Given the description of an element on the screen output the (x, y) to click on. 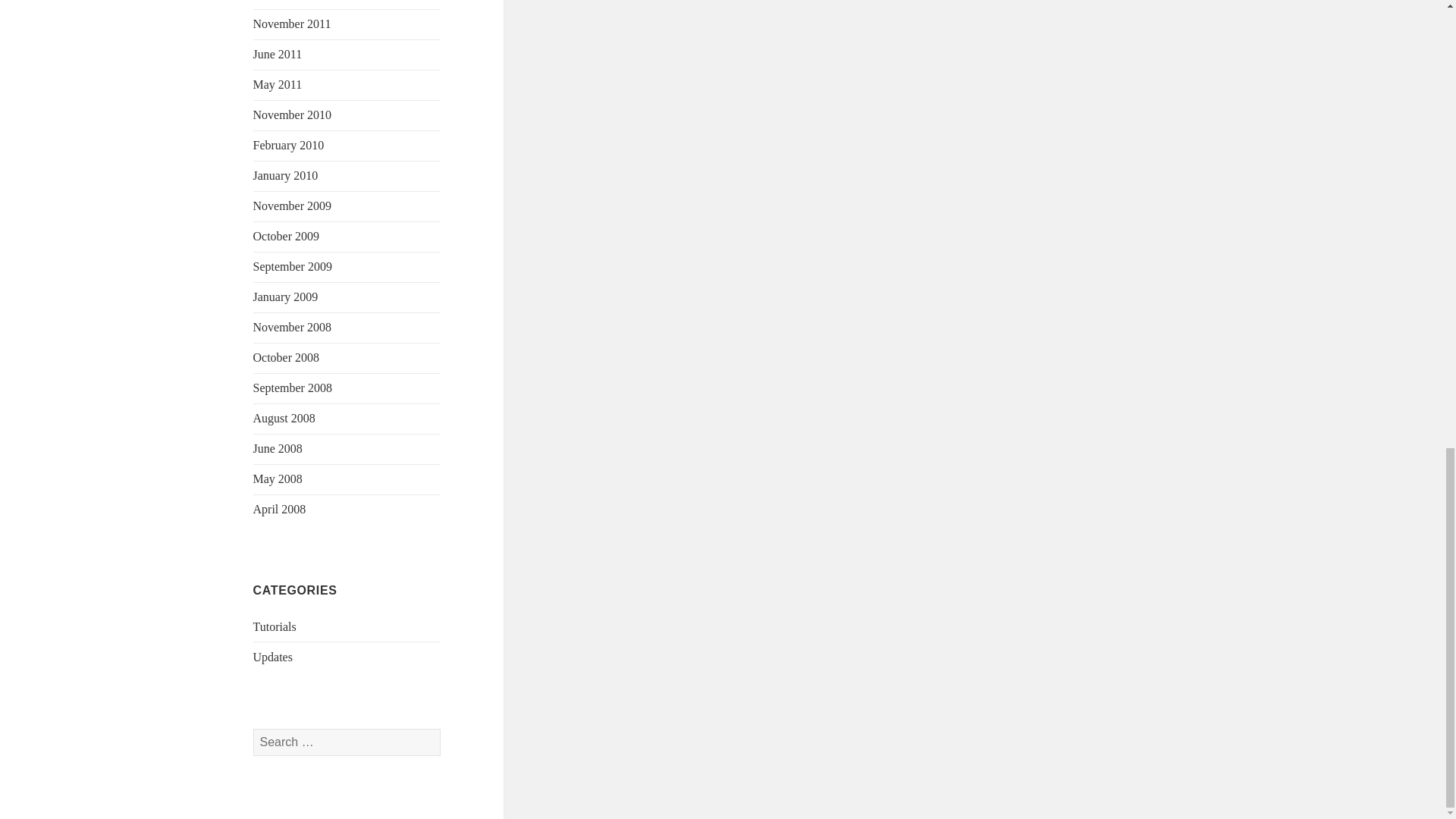
November 2011 (292, 23)
February 2010 (288, 144)
September 2008 (292, 387)
September 2009 (292, 266)
May 2008 (277, 478)
April 2008 (279, 508)
November 2009 (292, 205)
June 2008 (277, 448)
October 2009 (286, 236)
January 2010 (285, 174)
October 2008 (286, 357)
August 2008 (284, 418)
May 2011 (277, 83)
November 2008 (292, 327)
